Given the description of an element on the screen output the (x, y) to click on. 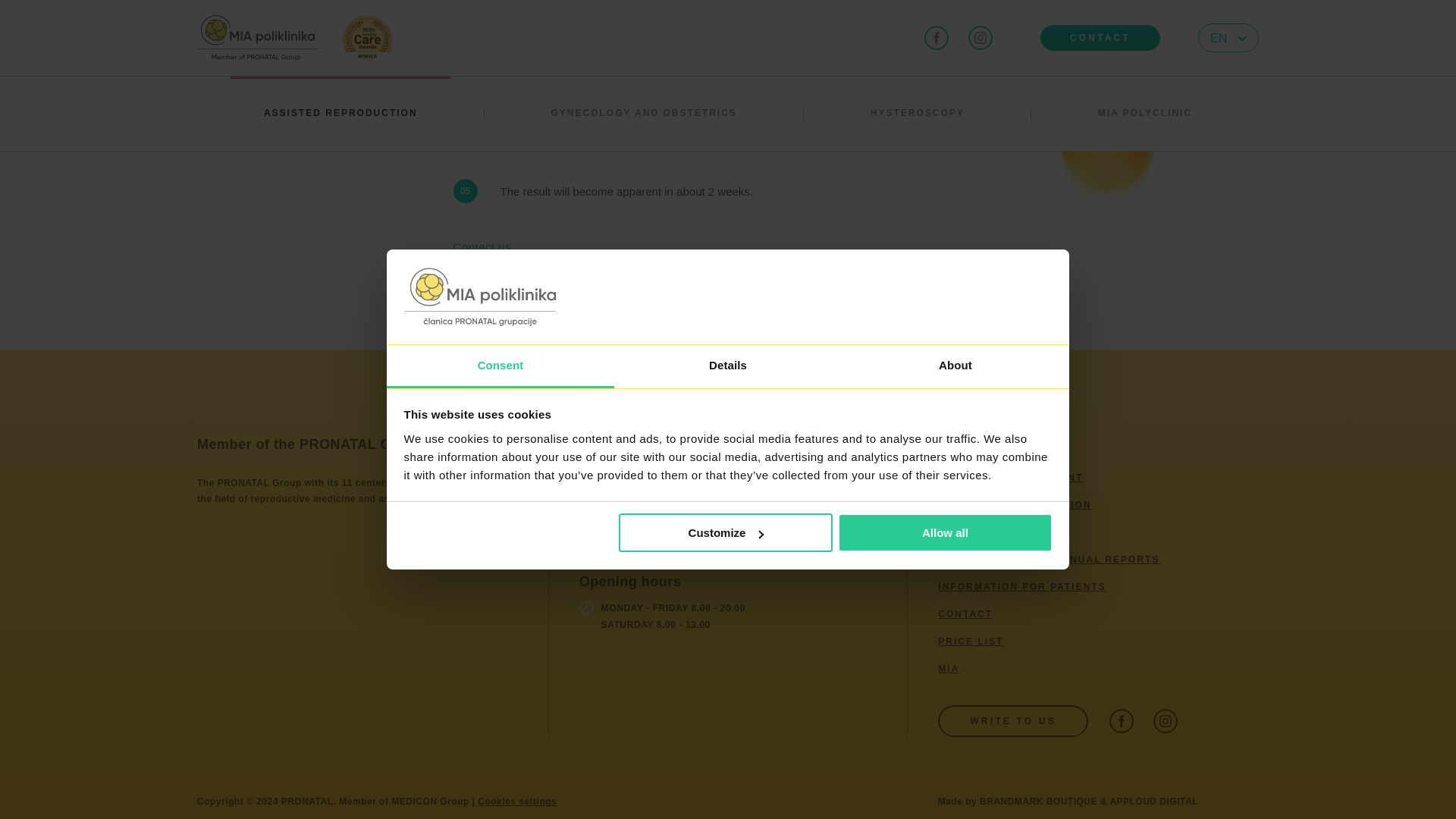
Group 4 (586, 504)
Group 3 (586, 533)
Group 5 (586, 607)
